Given the description of an element on the screen output the (x, y) to click on. 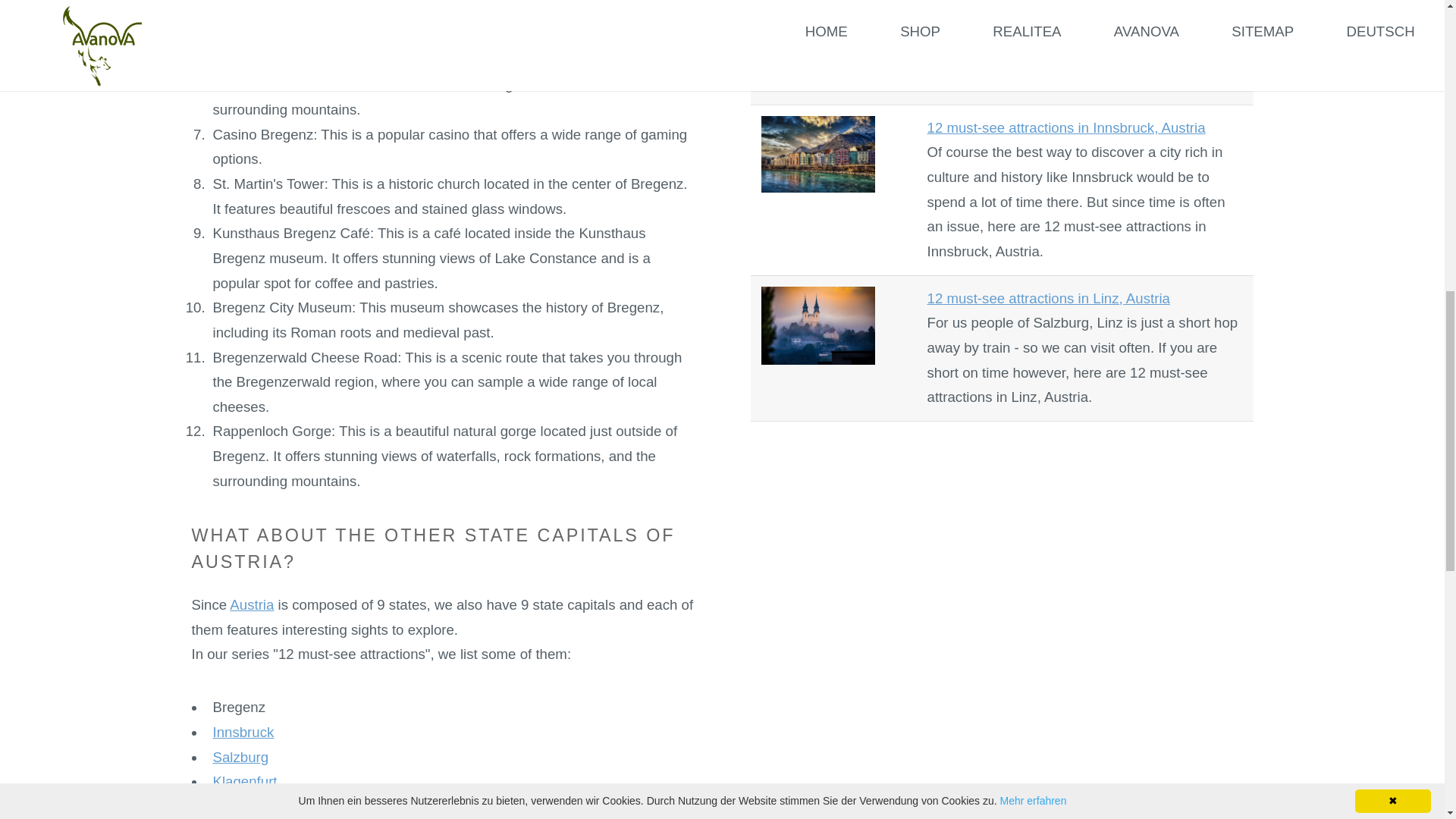
Innsbruck (242, 731)
Salzburg (239, 756)
Klagenfurt (244, 781)
Linz (225, 806)
12 must-see attractions in Linz, Austria (1047, 298)
12 must-see attractions in Innsbruck, Austria (1065, 127)
Austria (251, 604)
12 must-see attractions in Innsbruck, Austria (1065, 127)
12 must-see attractions in Linz, Austria (1047, 298)
